Given the description of an element on the screen output the (x, y) to click on. 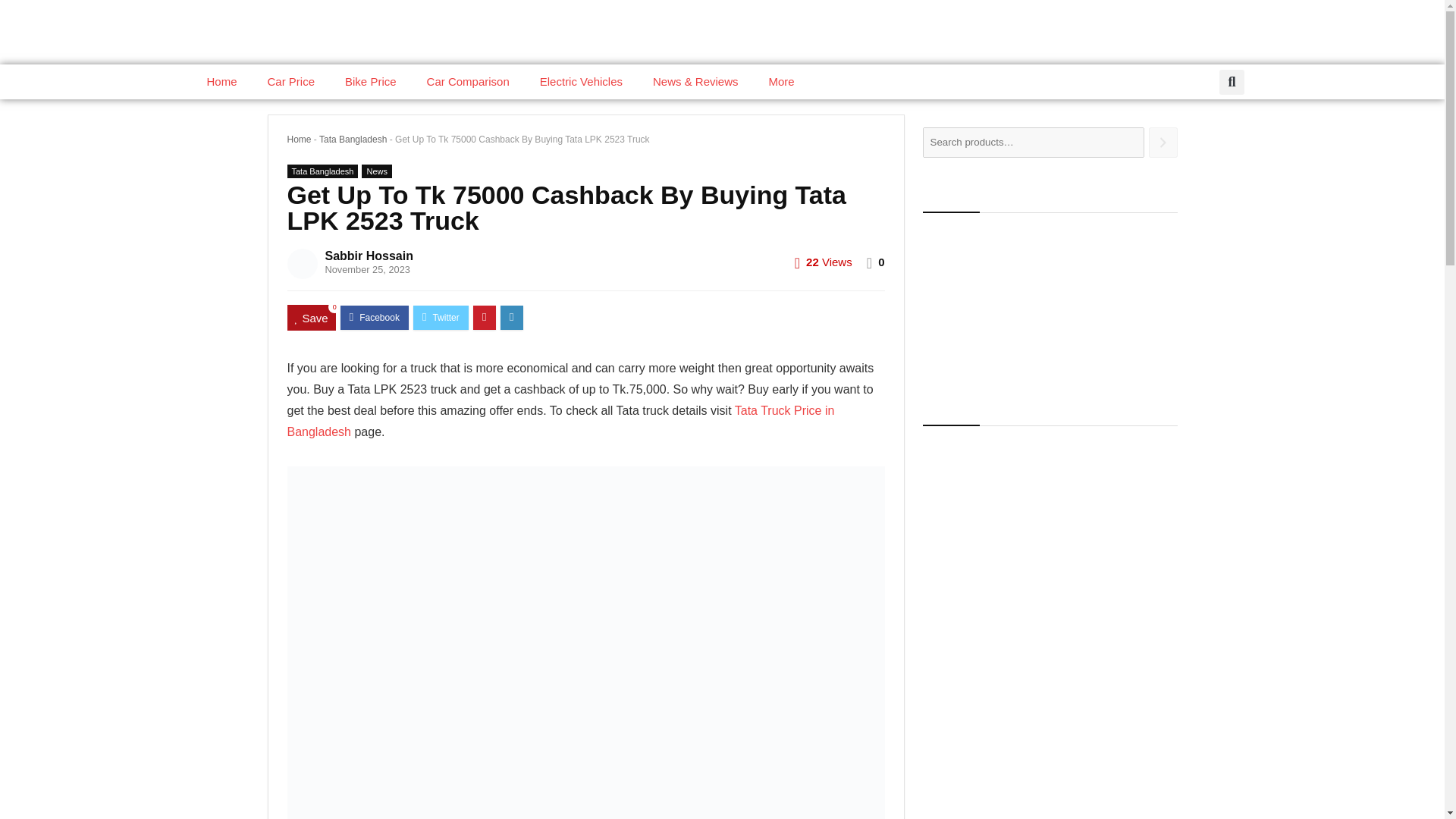
Car Price (290, 81)
Electric Vehicles (580, 81)
Car Comparison (468, 81)
Bike Price (371, 81)
View all posts in News (376, 171)
Home (220, 81)
More (781, 81)
View all posts in Tata Bangladesh (322, 171)
